Given the description of an element on the screen output the (x, y) to click on. 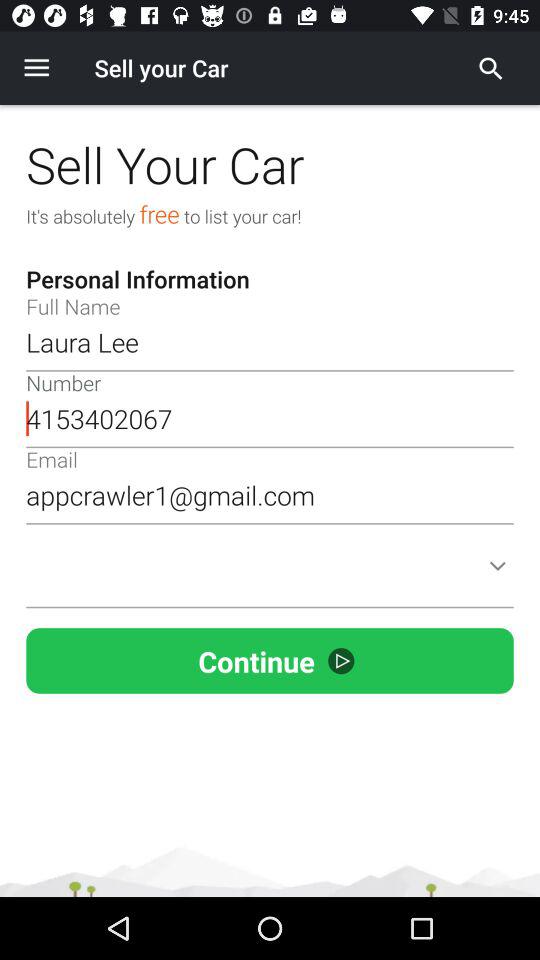
jump to laura lee item (269, 342)
